Given the description of an element on the screen output the (x, y) to click on. 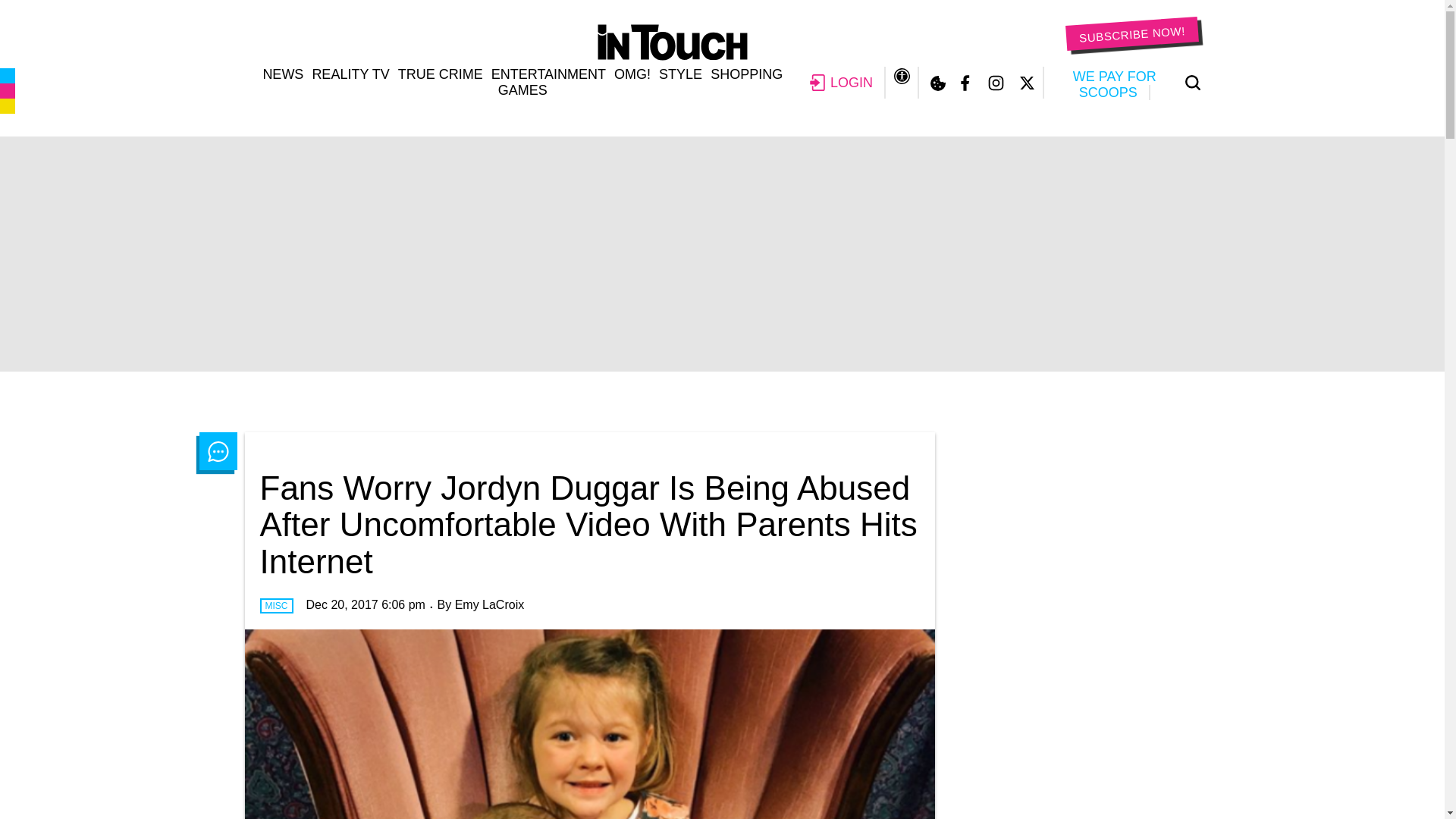
Posts by Emy LaCroix (489, 604)
